Given the description of an element on the screen output the (x, y) to click on. 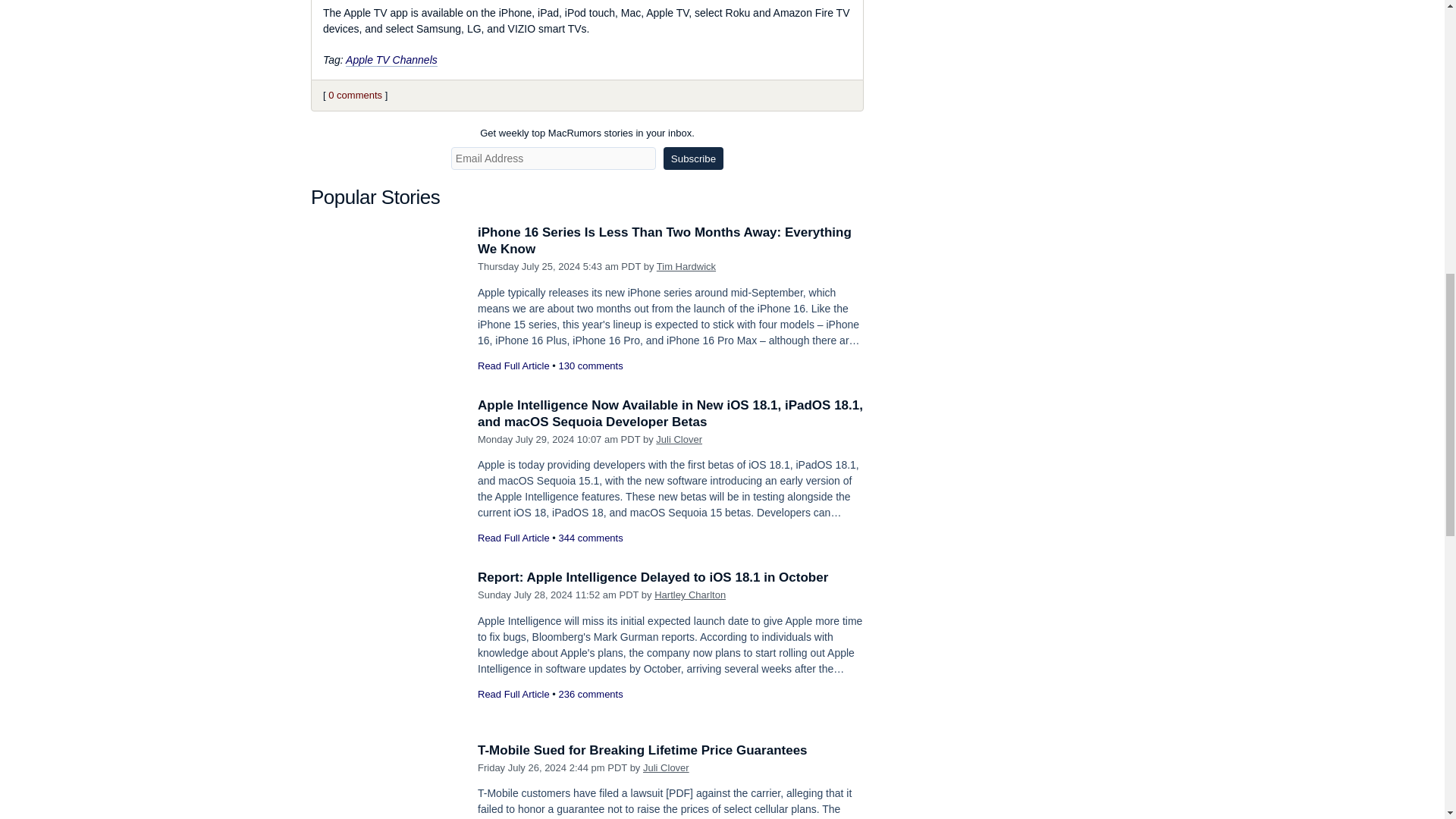
Subscribe (693, 158)
